Given the description of an element on the screen output the (x, y) to click on. 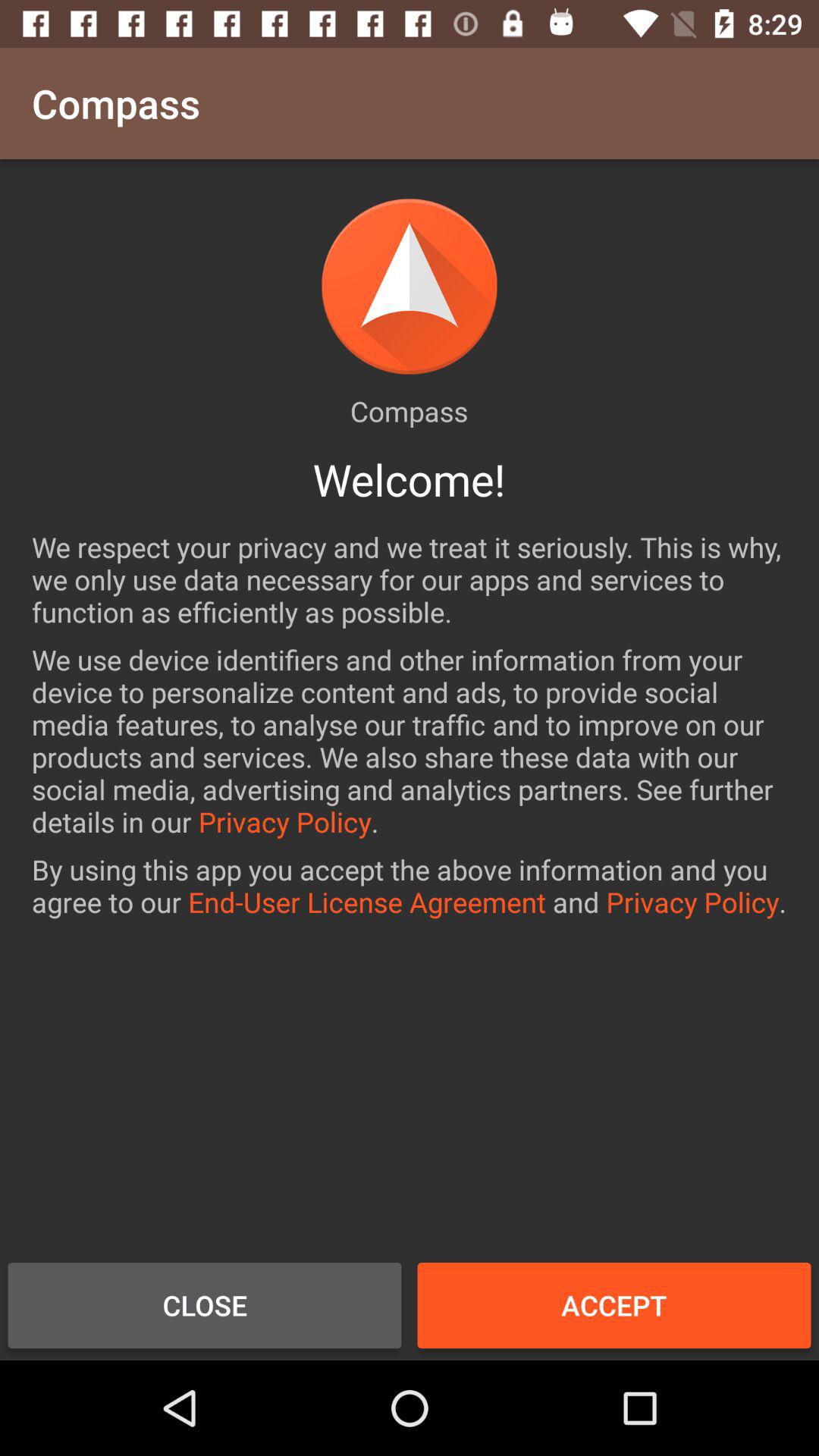
jump until by using this icon (409, 885)
